Given the description of an element on the screen output the (x, y) to click on. 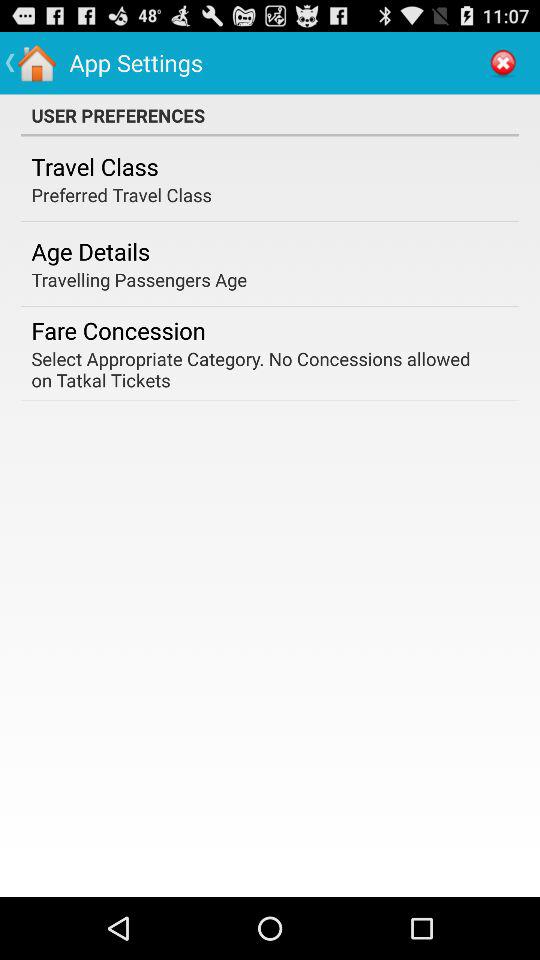
turn off the fare concession item (118, 330)
